Given the description of an element on the screen output the (x, y) to click on. 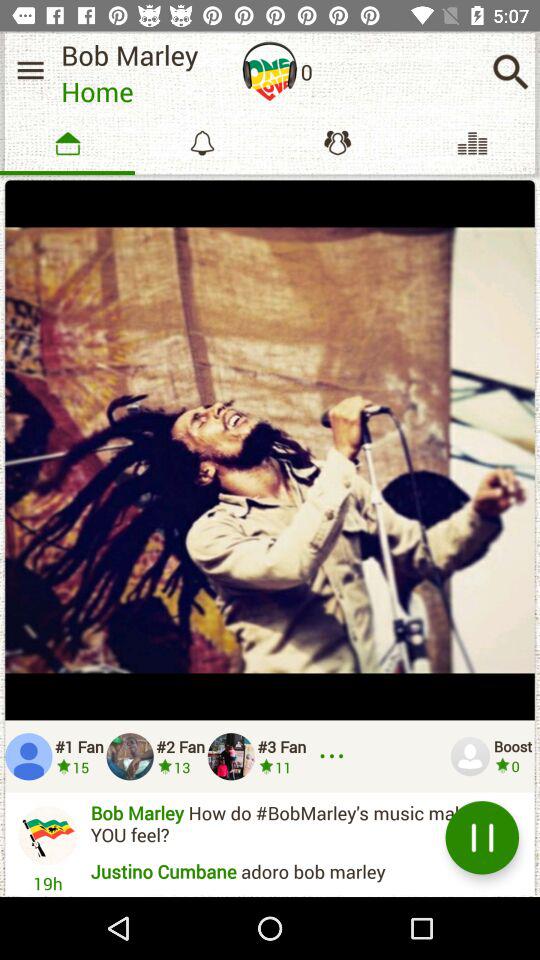
search (510, 71)
